Given the description of an element on the screen output the (x, y) to click on. 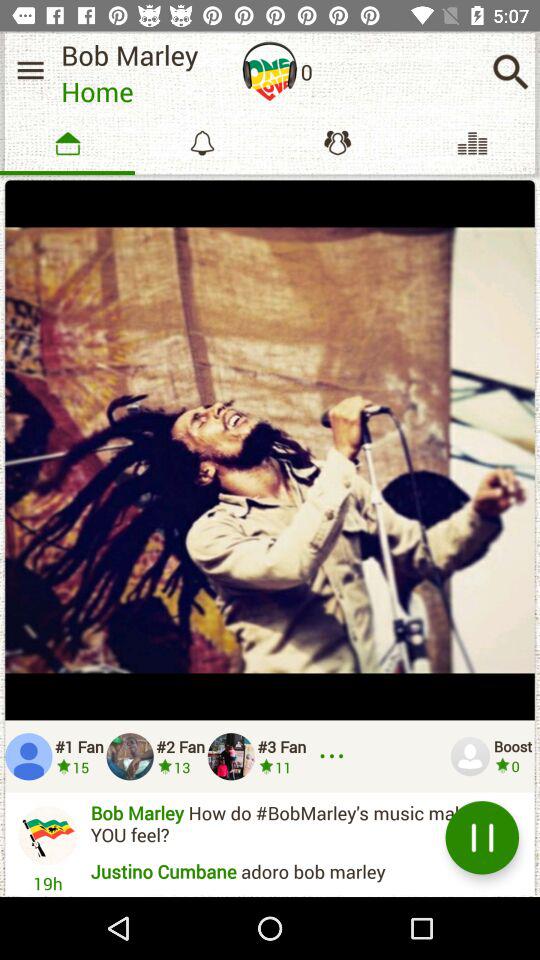
search (510, 71)
